Given the description of an element on the screen output the (x, y) to click on. 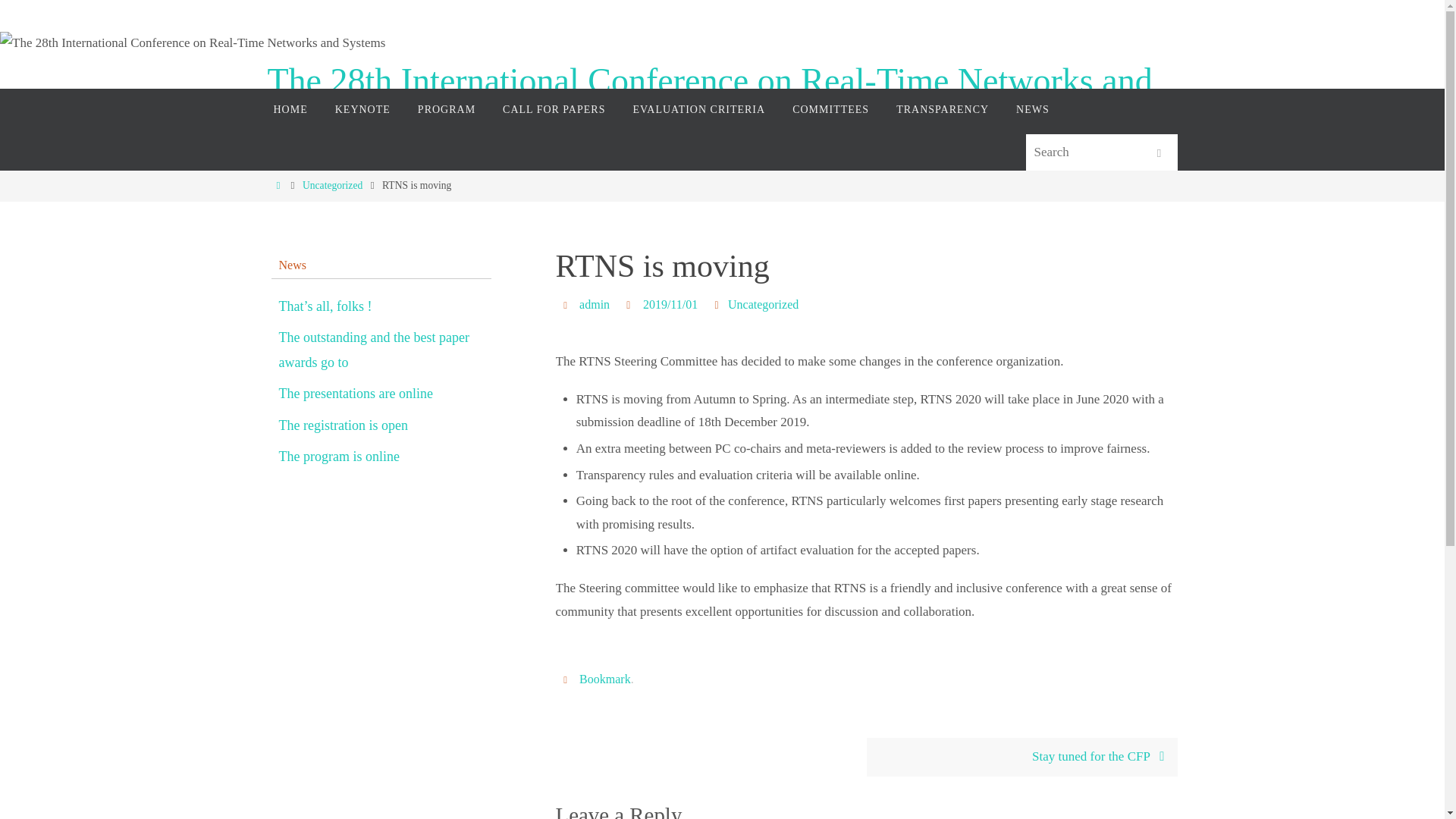
Uncategorized (762, 305)
HOME (289, 109)
CALL FOR PAPERS (553, 109)
The presentations are online (355, 393)
 Bookmark the permalink (566, 678)
Date (630, 304)
Uncategorized (332, 184)
Stay tuned for the CFP (1021, 756)
KEYNOTE (362, 109)
Bookmark (604, 679)
EVALUATION CRITERIA (698, 109)
admin (594, 305)
Author  (566, 304)
The registration is open (343, 425)
